Given the description of an element on the screen output the (x, y) to click on. 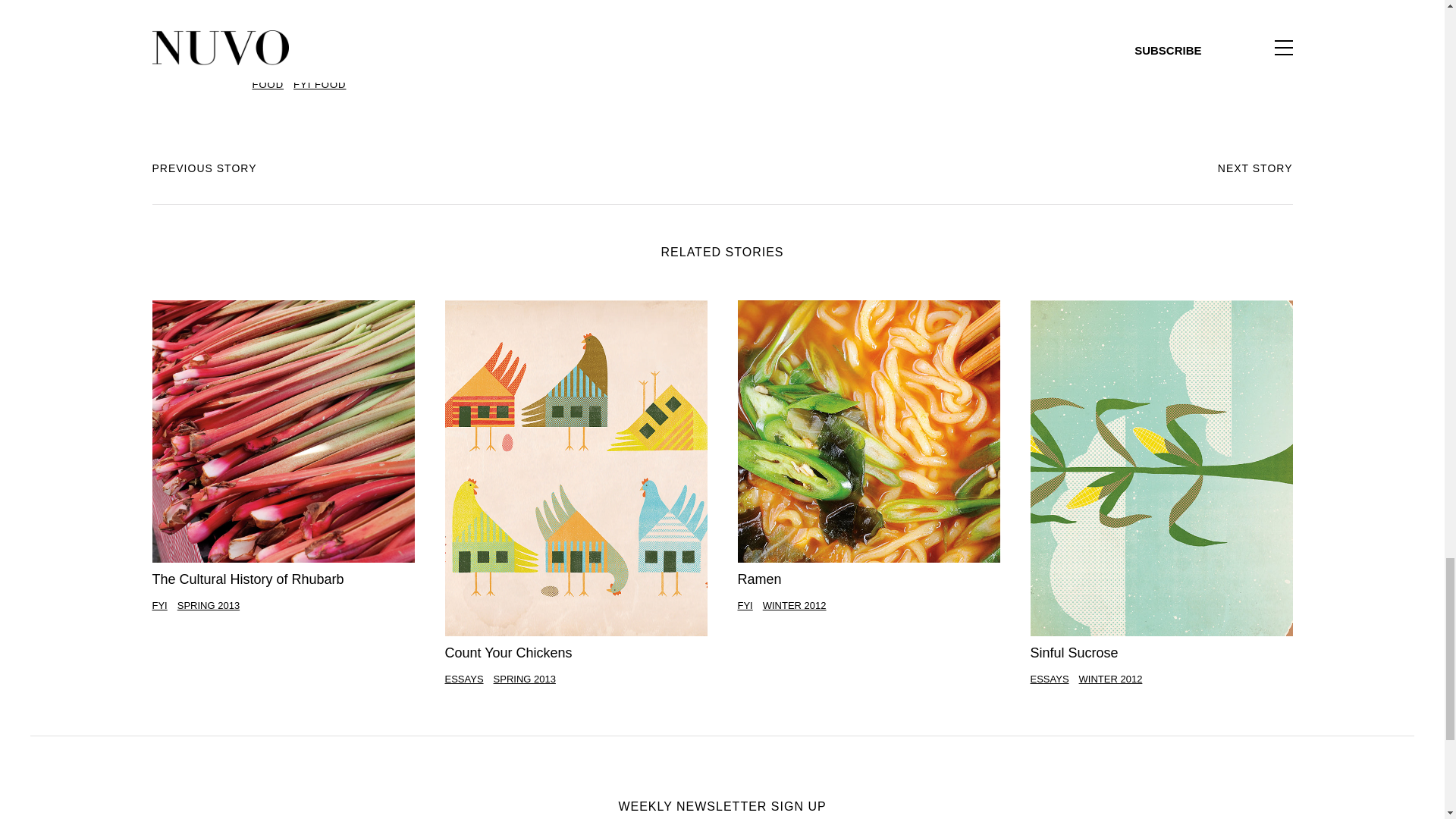
Flipboard (344, 4)
LinkedIn (316, 4)
Twitter (289, 4)
Facebook (262, 4)
